Given the description of an element on the screen output the (x, y) to click on. 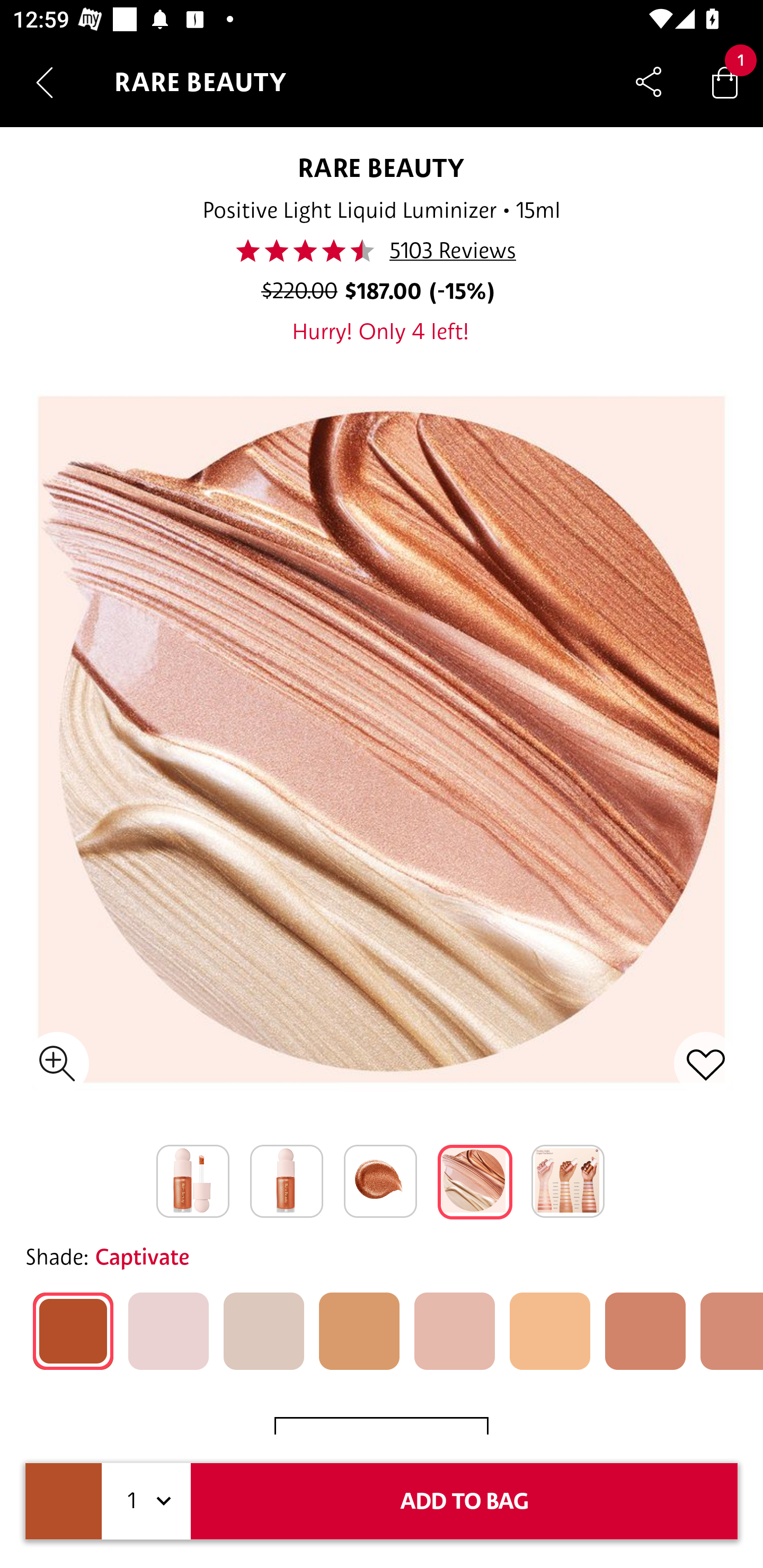
Navigate up (44, 82)
Share (648, 81)
Bag (724, 81)
RARE BEAUTY (381, 167)
45.0 5103 Reviews (380, 250)
1 (145, 1500)
ADD TO BAG (463, 1500)
